Given the description of an element on the screen output the (x, y) to click on. 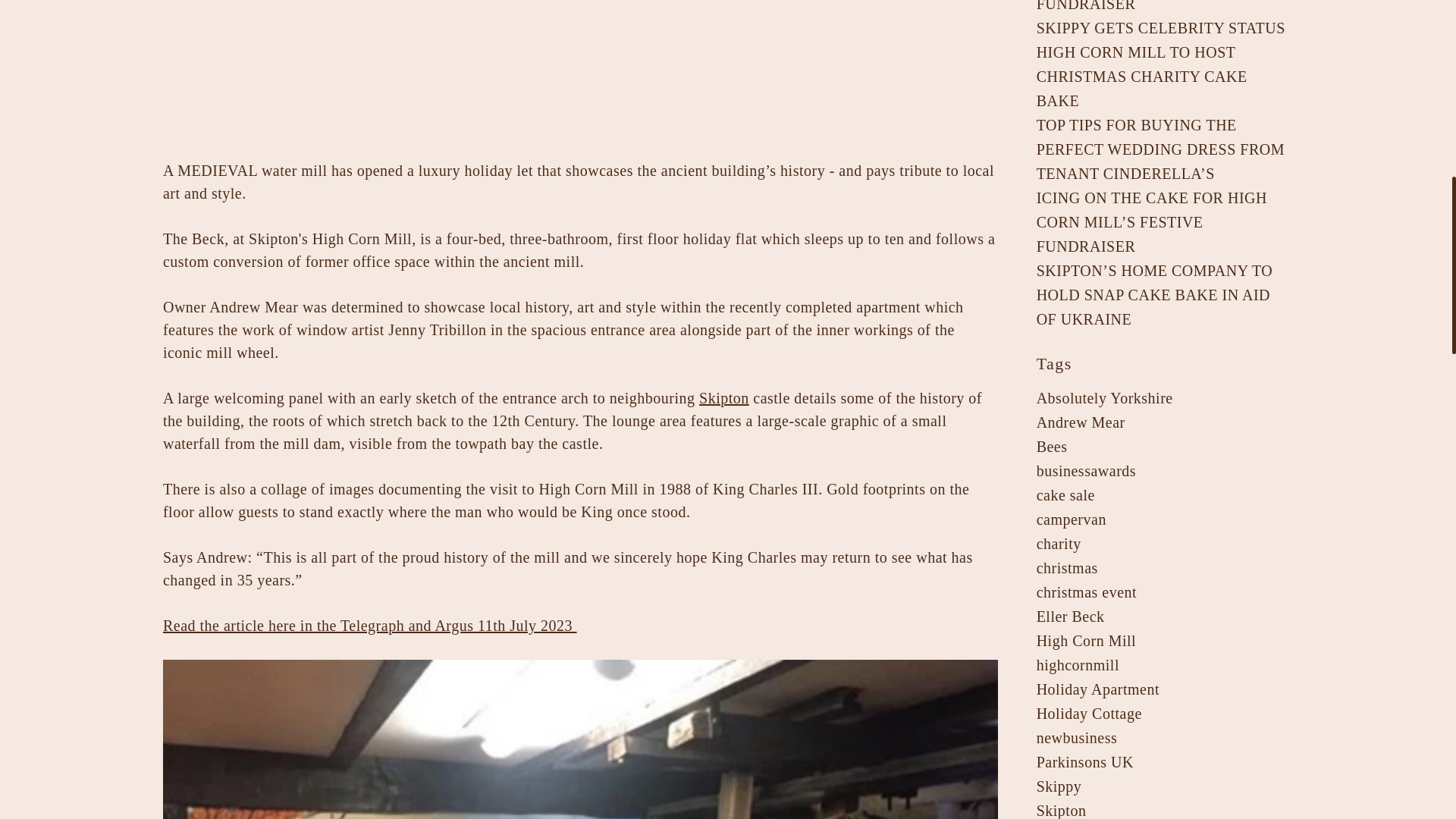
Skipton (723, 397)
HIGH CORN MILL TO HOST CHRISTMAS CHARITY CAKE BAKE (1141, 76)
Absolutely Yorkshire (1104, 397)
SKIPPY GETS CELEBRITY STATUS (1160, 27)
Andrew Mear (1080, 422)
